Given the description of an element on the screen output the (x, y) to click on. 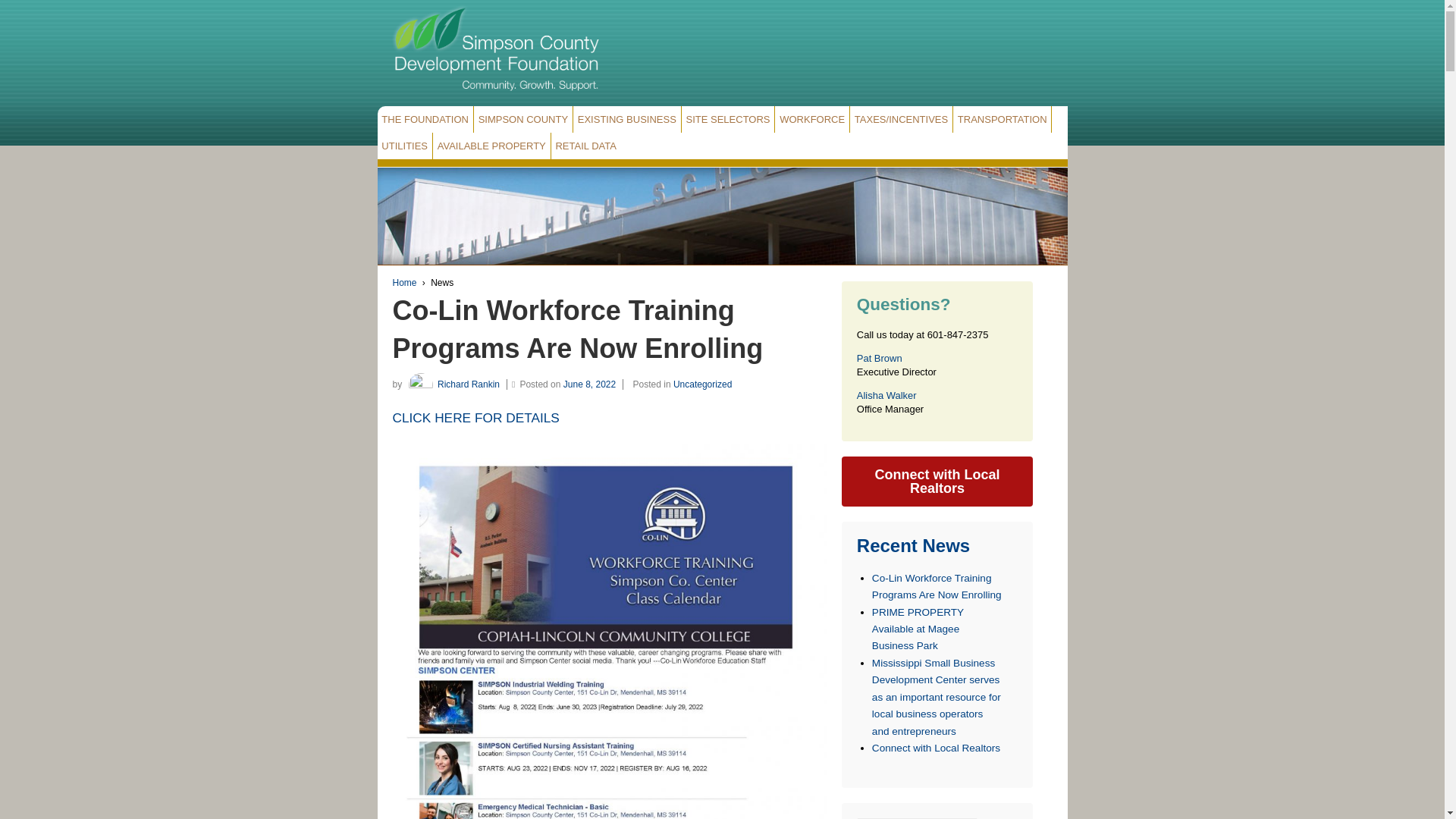
Home (404, 282)
CLICK HERE FOR DETAILS (476, 417)
Co-Lin Workforce Training Programs Are Now Enrolling (577, 328)
June 8, 2022 (593, 384)
WORKFORCE (811, 119)
RETAIL DATA (586, 145)
SITE SELECTORS (727, 119)
SIMPSON COUNTY (523, 119)
Uncategorized (702, 384)
View all posts by Richard Rankin (452, 384)
UTILITIES (404, 145)
EXISTING BUSINESS (627, 119)
TRANSPORTATION (1002, 119)
THE FOUNDATION (425, 119)
AVAILABLE PROPERTY (491, 145)
